Given the description of an element on the screen output the (x, y) to click on. 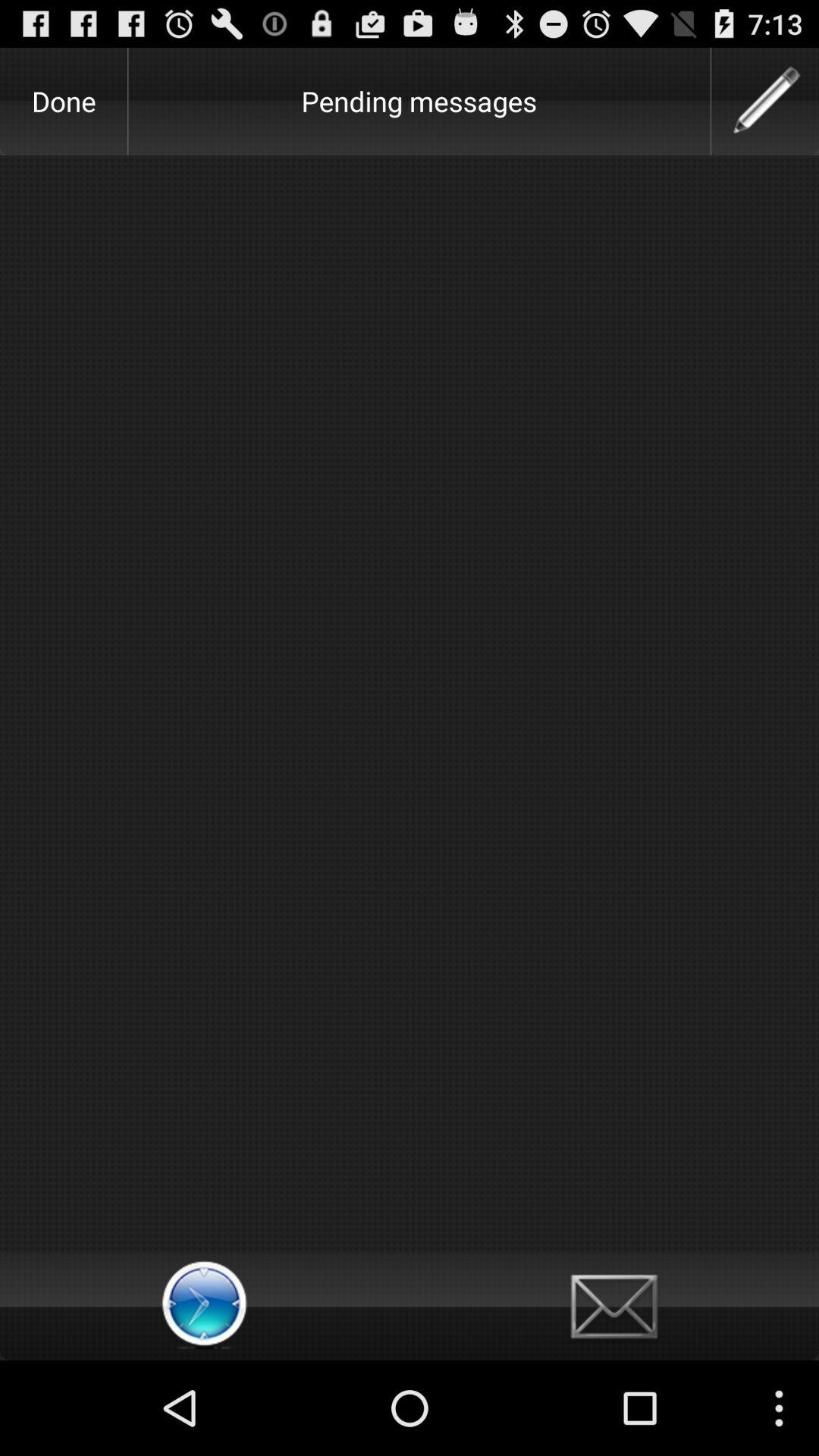
open the item below the done icon (409, 703)
